Given the description of an element on the screen output the (x, y) to click on. 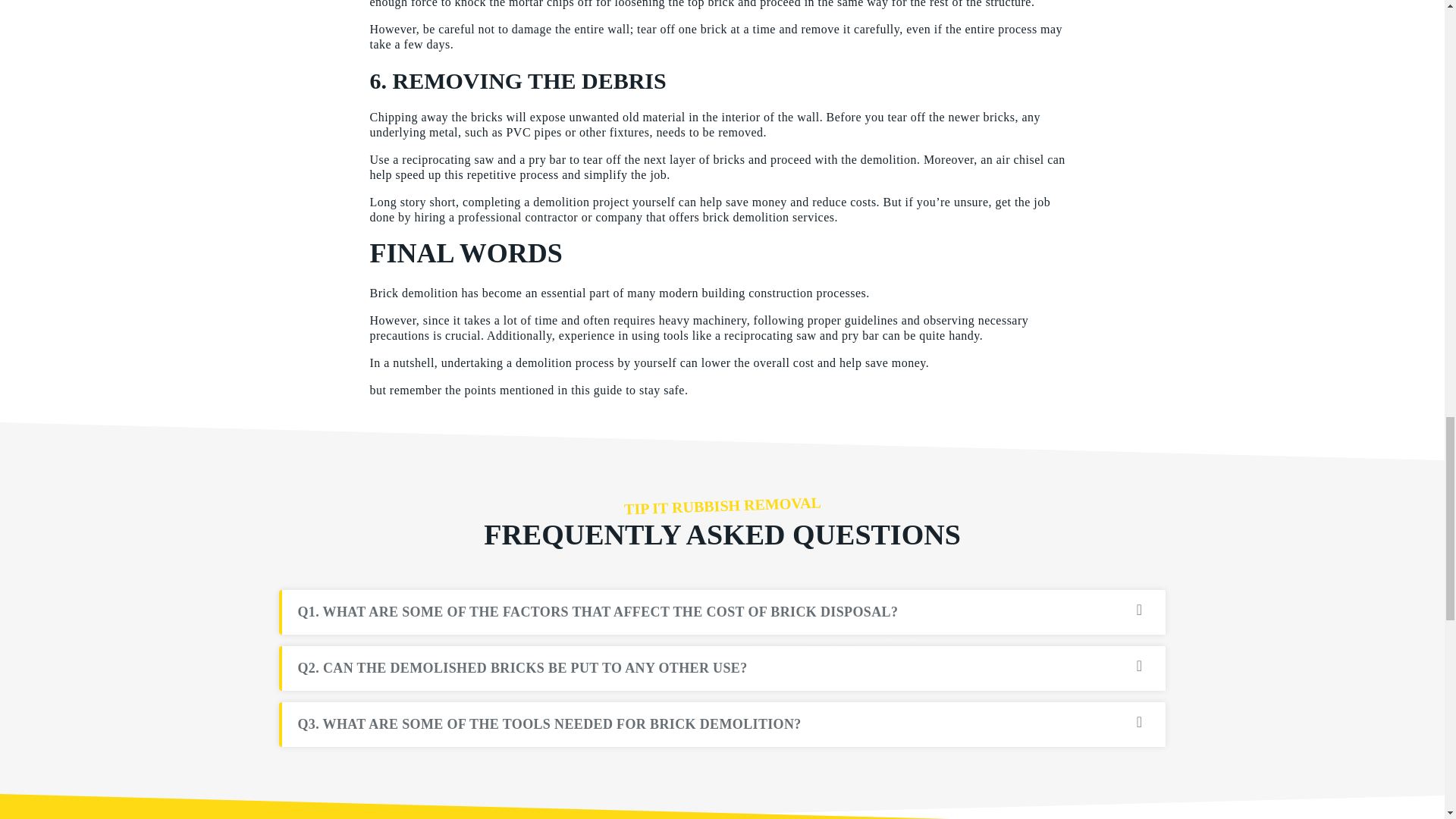
Q2. CAN THE DEMOLISHED BRICKS BE PUT TO ANY OTHER USE? (724, 668)
Q3. WHAT ARE SOME OF THE TOOLS NEEDED FOR BRICK DEMOLITION? (724, 724)
